Given the description of an element on the screen output the (x, y) to click on. 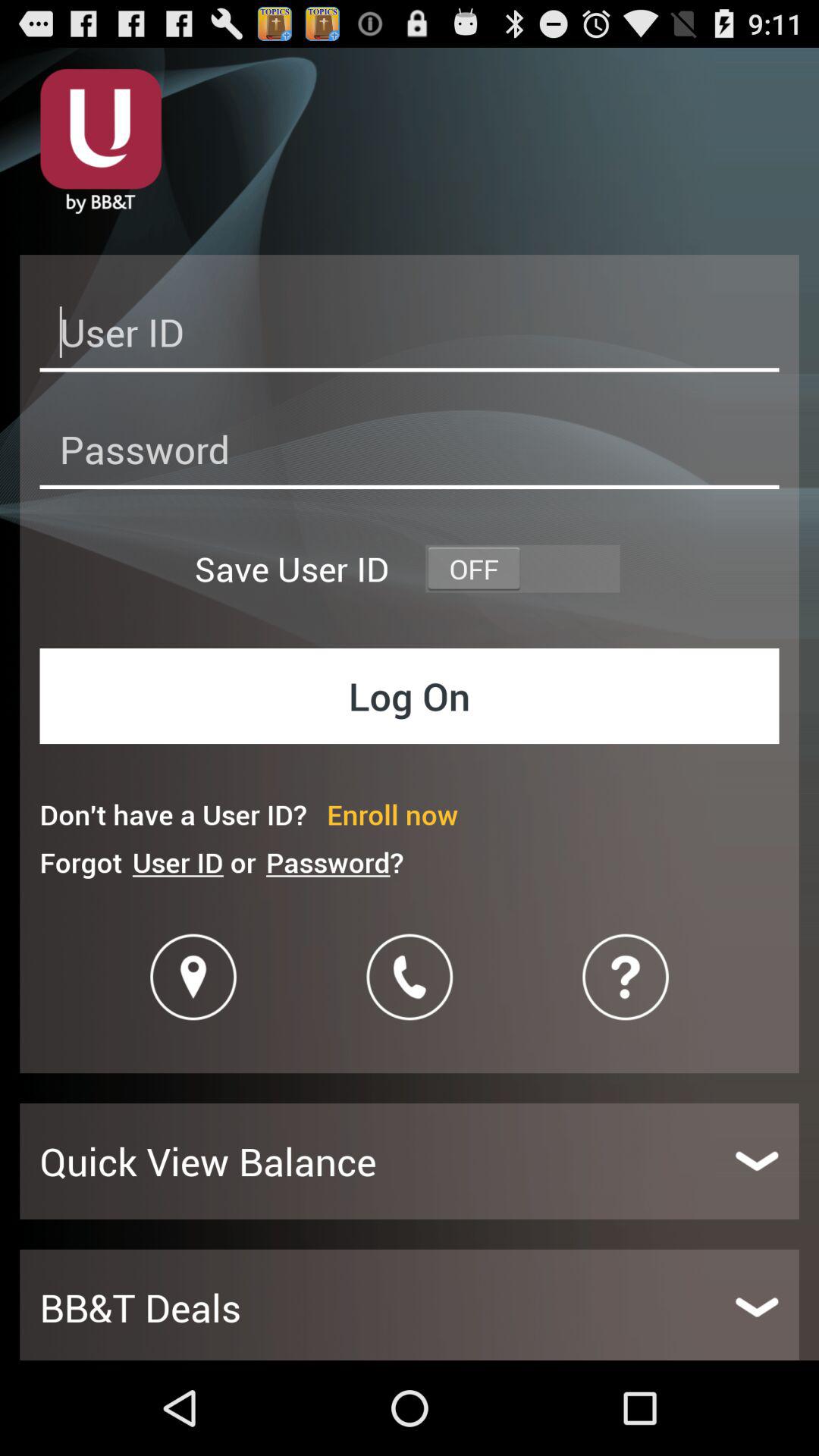
choose the item to the right of don t have (392, 814)
